Given the description of an element on the screen output the (x, y) to click on. 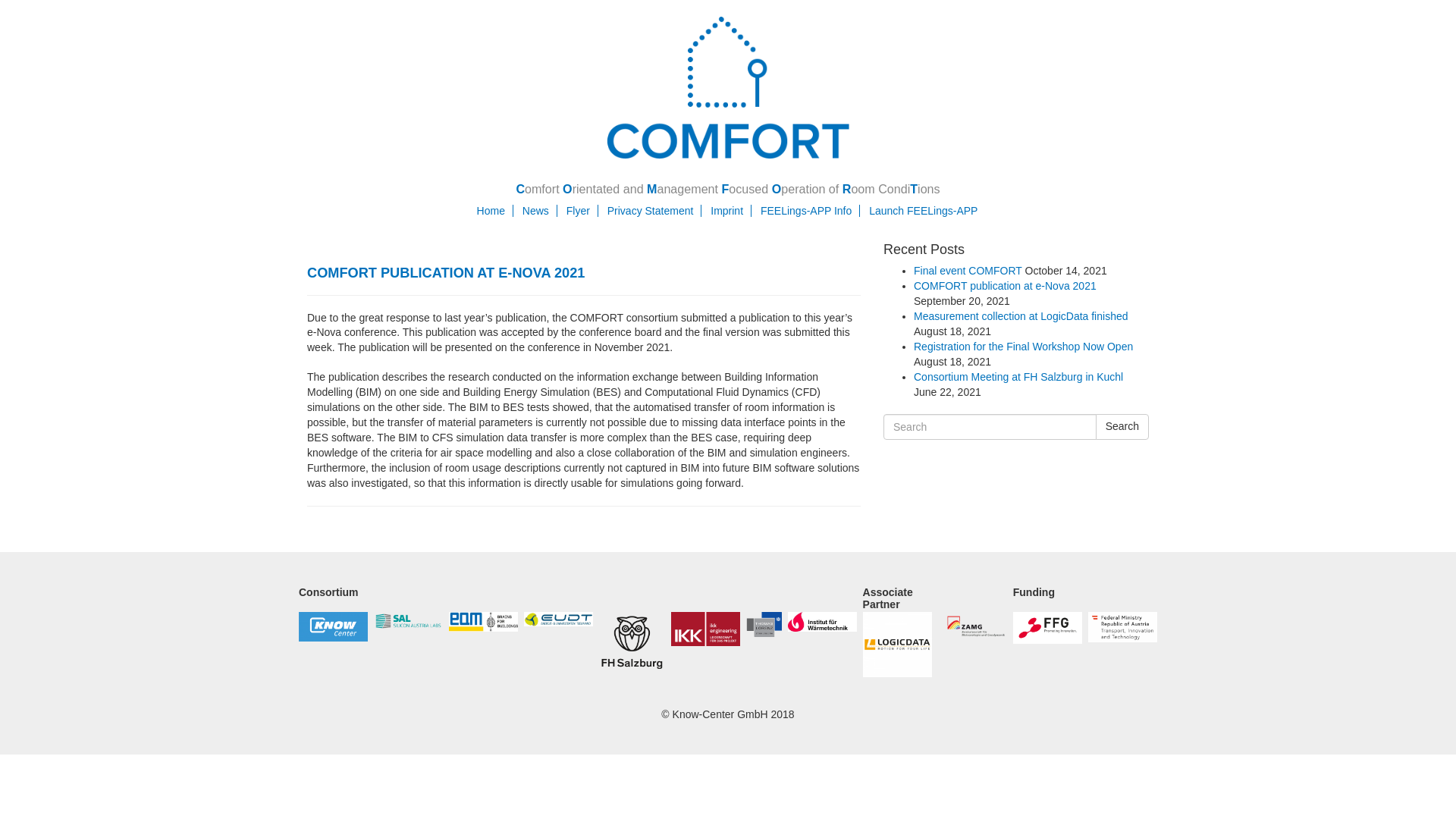
IKK Engineering GmbH (705, 628)
Privacy Statement (654, 210)
News (539, 210)
COMFORT publication at e-Nova 2021 (1005, 285)
EAM Systems GmbH (483, 621)
Home (495, 210)
Consortium Meeting at FH Salzburg in Kuchl (1018, 377)
Imprint (730, 210)
Flyer (582, 210)
Know-Center (333, 626)
